Given the description of an element on the screen output the (x, y) to click on. 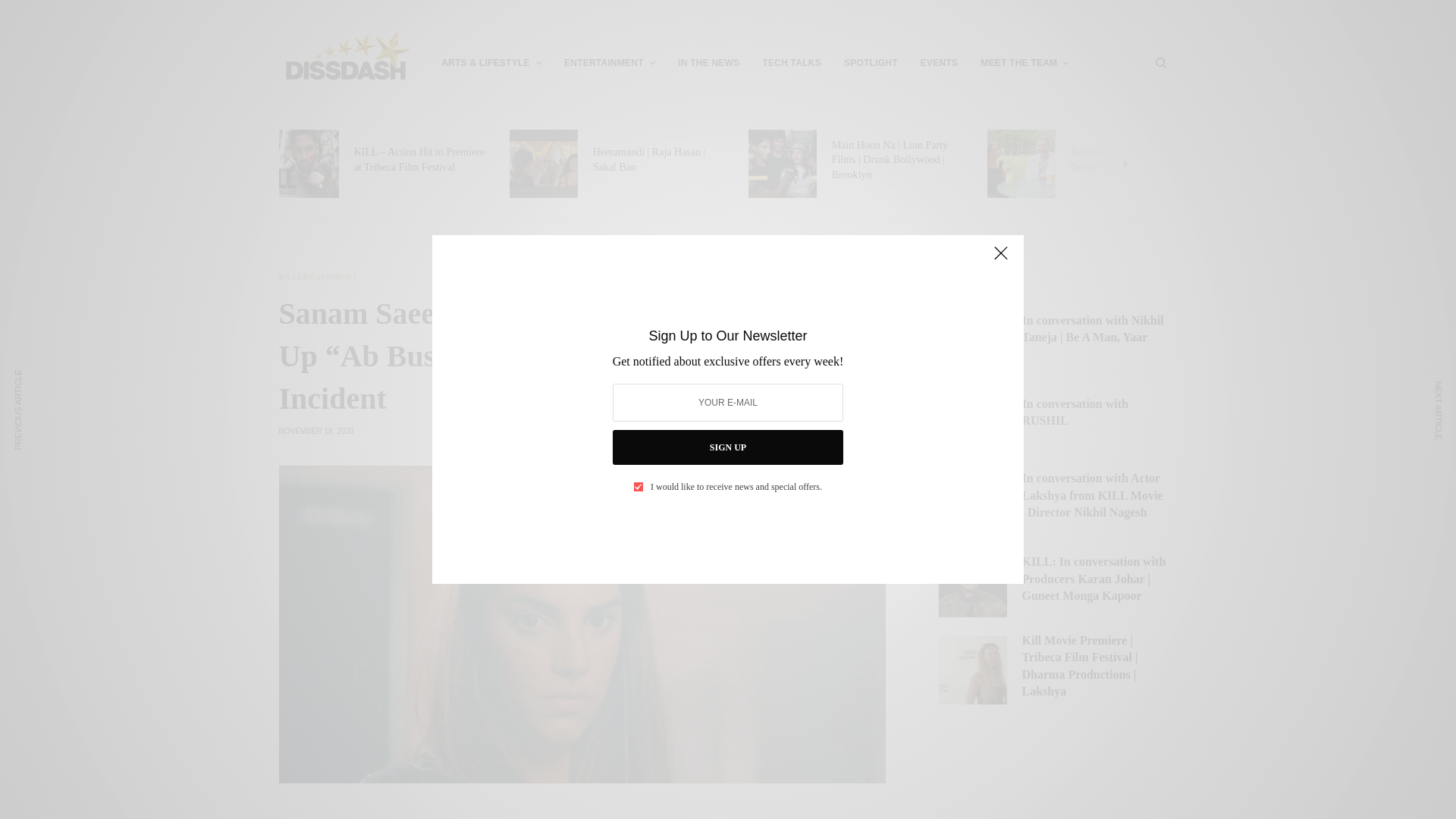
DissDash (346, 56)
SIGN UP (728, 447)
MEET THE TEAM (1023, 62)
ENTERTAINMENT (609, 62)
